Given the description of an element on the screen output the (x, y) to click on. 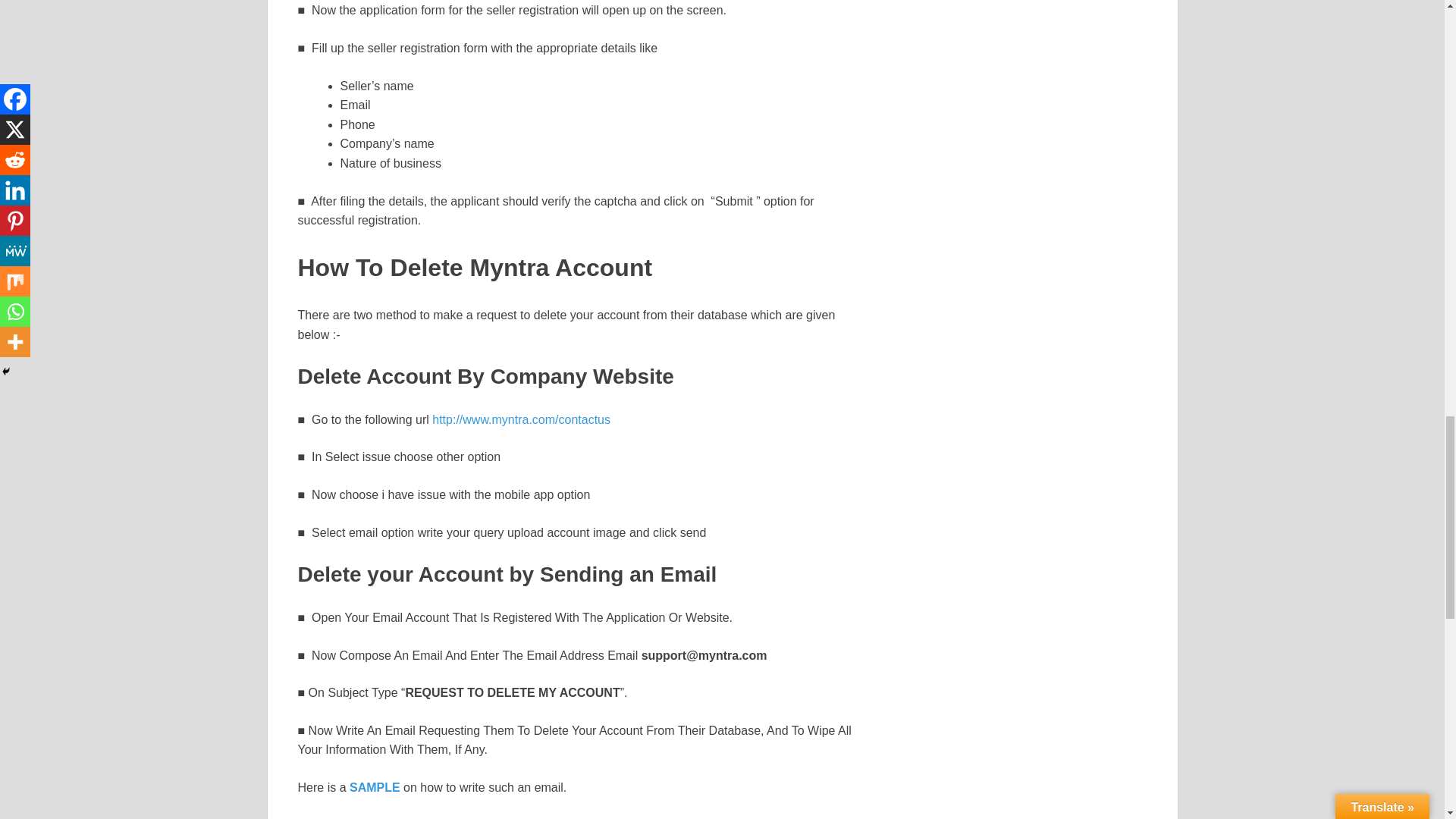
SAMPLE (374, 787)
